Given the description of an element on the screen output the (x, y) to click on. 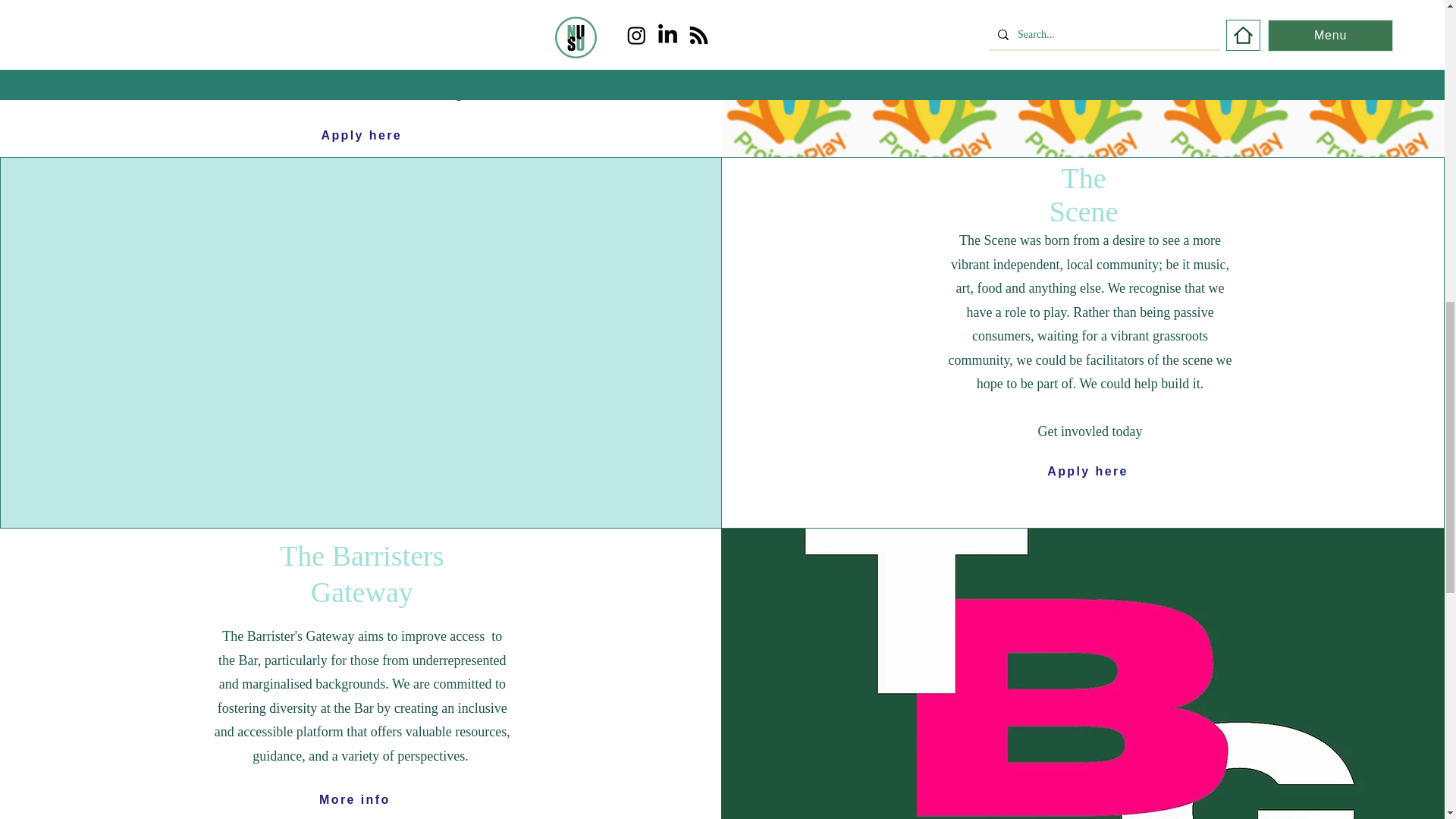
Apply here (1087, 471)
Apply here (360, 135)
More info (355, 799)
